Given the description of an element on the screen output the (x, y) to click on. 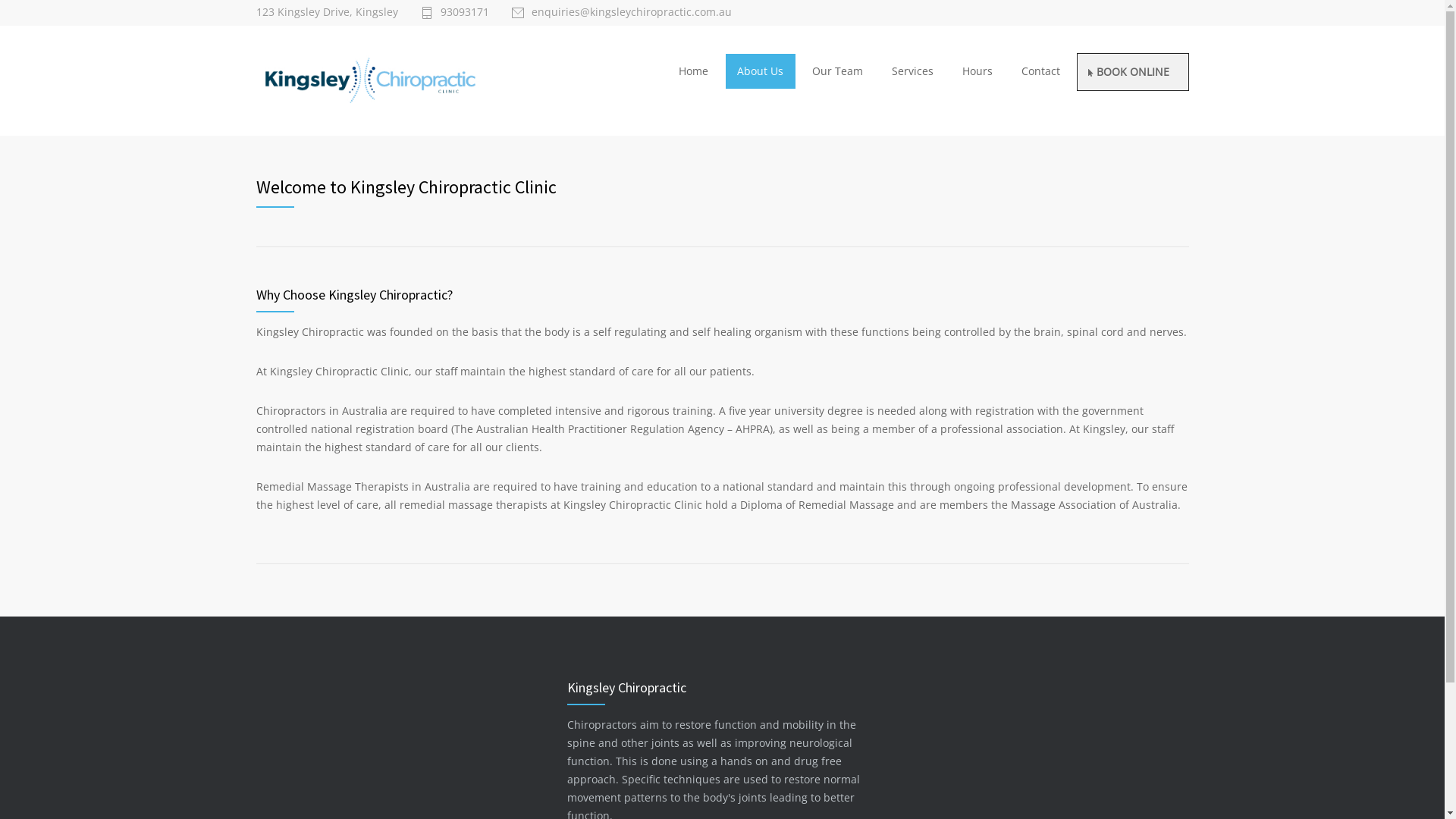
Our Team Element type: text (837, 71)
Hours Element type: text (976, 71)
Contact Element type: text (1040, 71)
enquiries@kingsleychiropractic.com.au Element type: text (621, 12)
93093171 Element type: text (454, 12)
BOOK ONLINE Element type: text (1131, 71)
Home Element type: text (692, 71)
About Us Element type: text (760, 71)
Services Element type: text (912, 71)
